Given the description of an element on the screen output the (x, y) to click on. 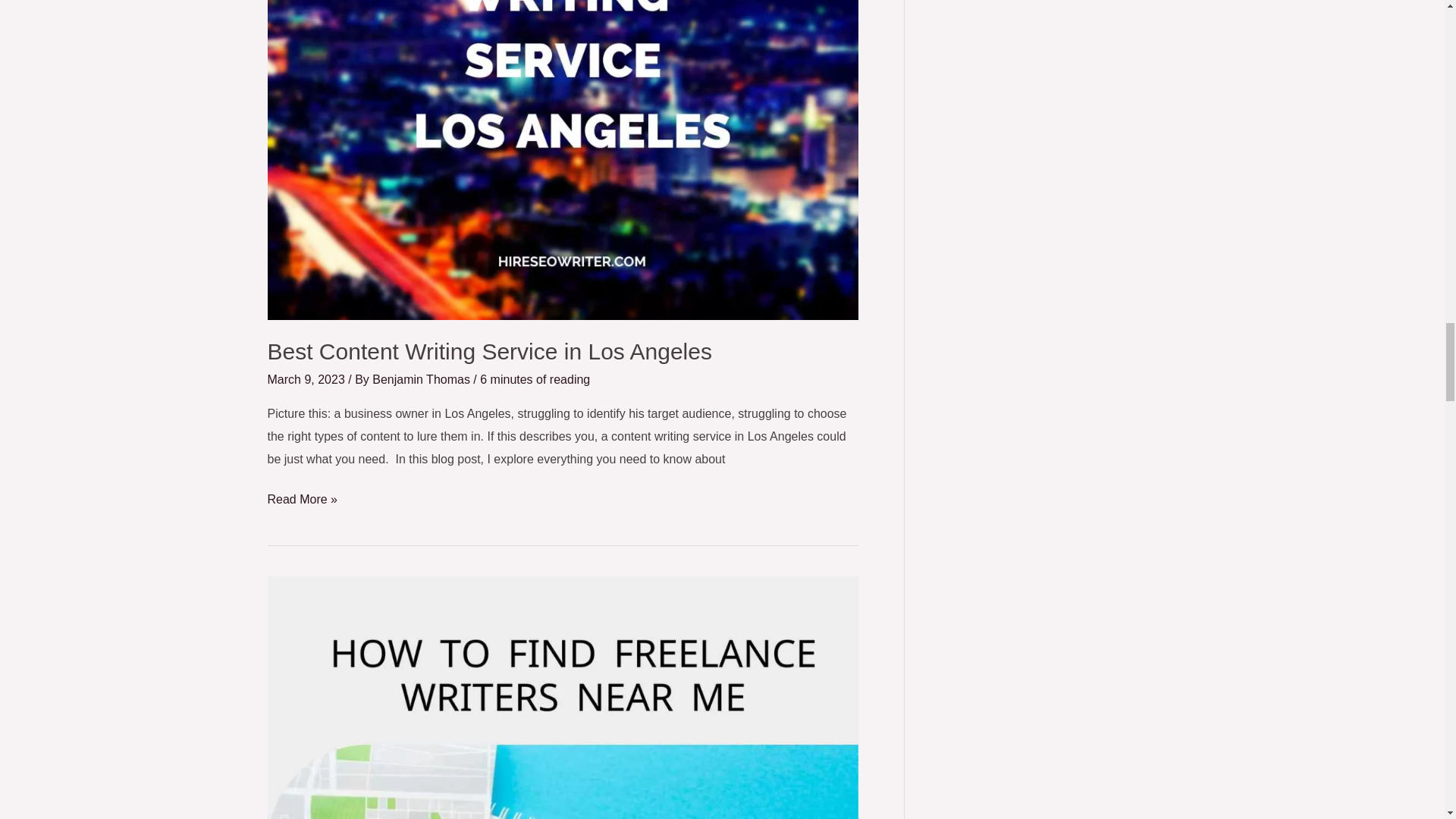
View all posts by Benjamin Thomas (422, 379)
